Given the description of an element on the screen output the (x, y) to click on. 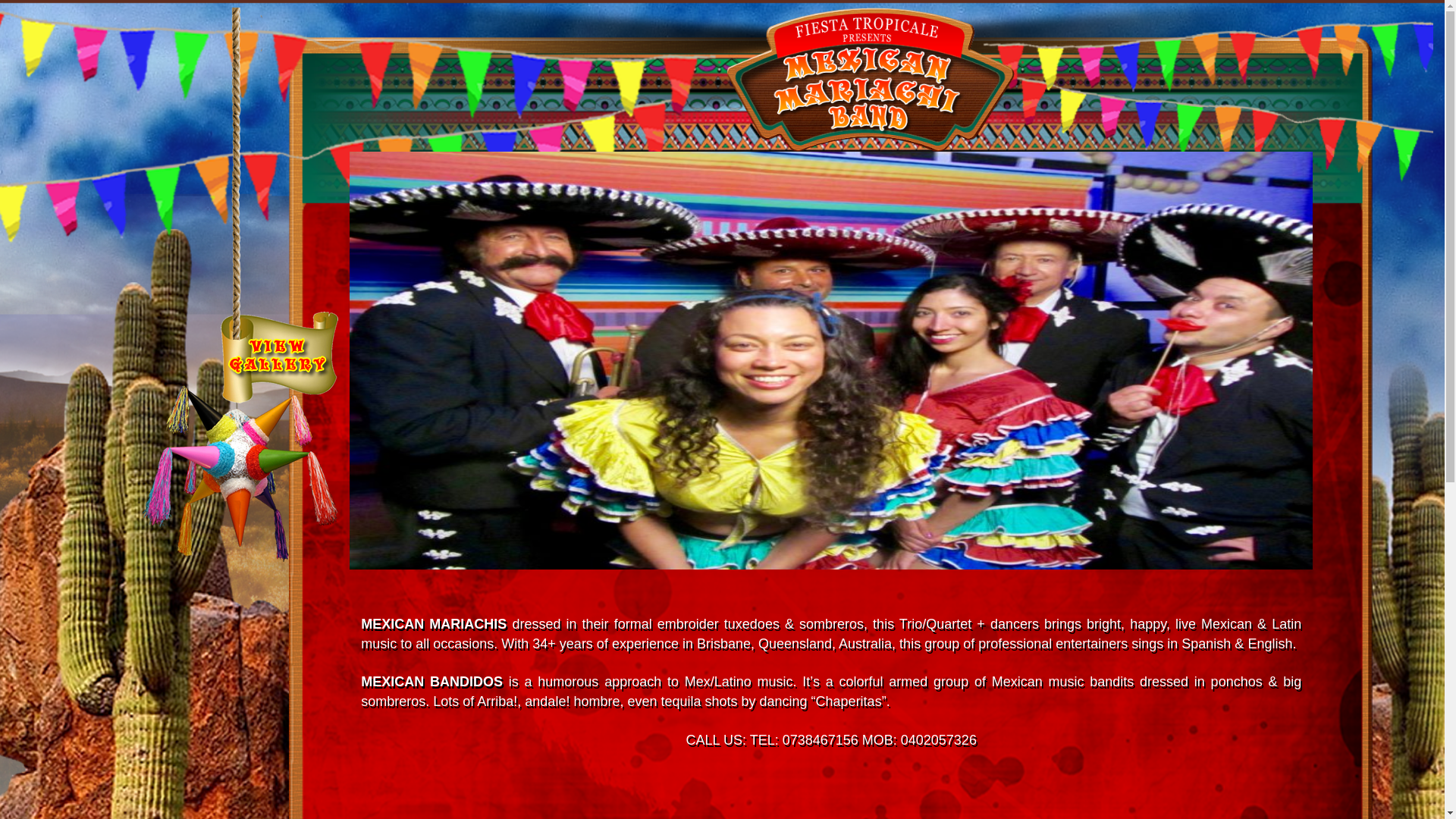
0738467156 Element type: text (820, 739)
0402057326 Element type: text (938, 739)
